Given the description of an element on the screen output the (x, y) to click on. 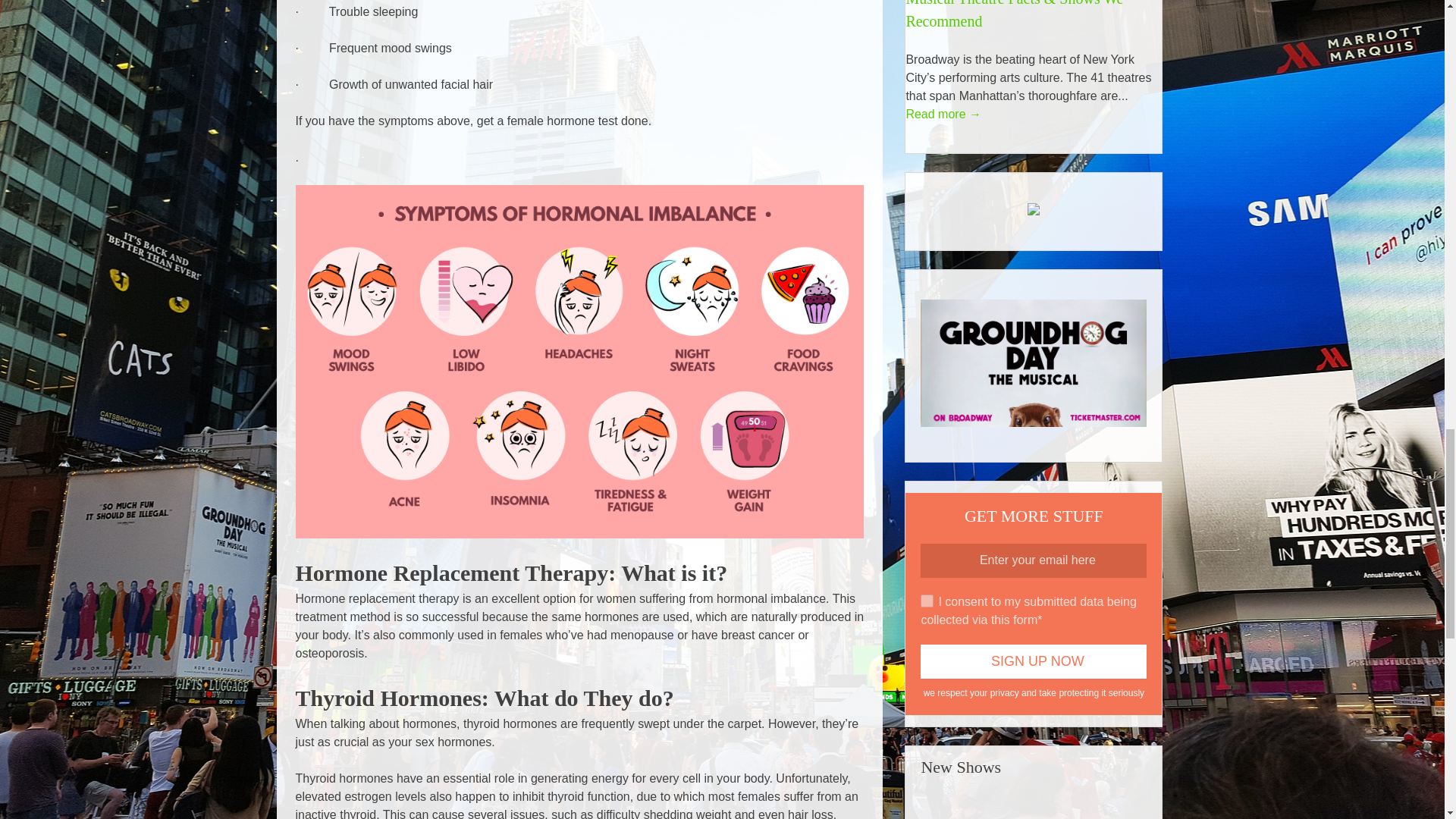
Sign Up Now (1033, 661)
on (926, 600)
Sign Up Now (1033, 661)
